Given the description of an element on the screen output the (x, y) to click on. 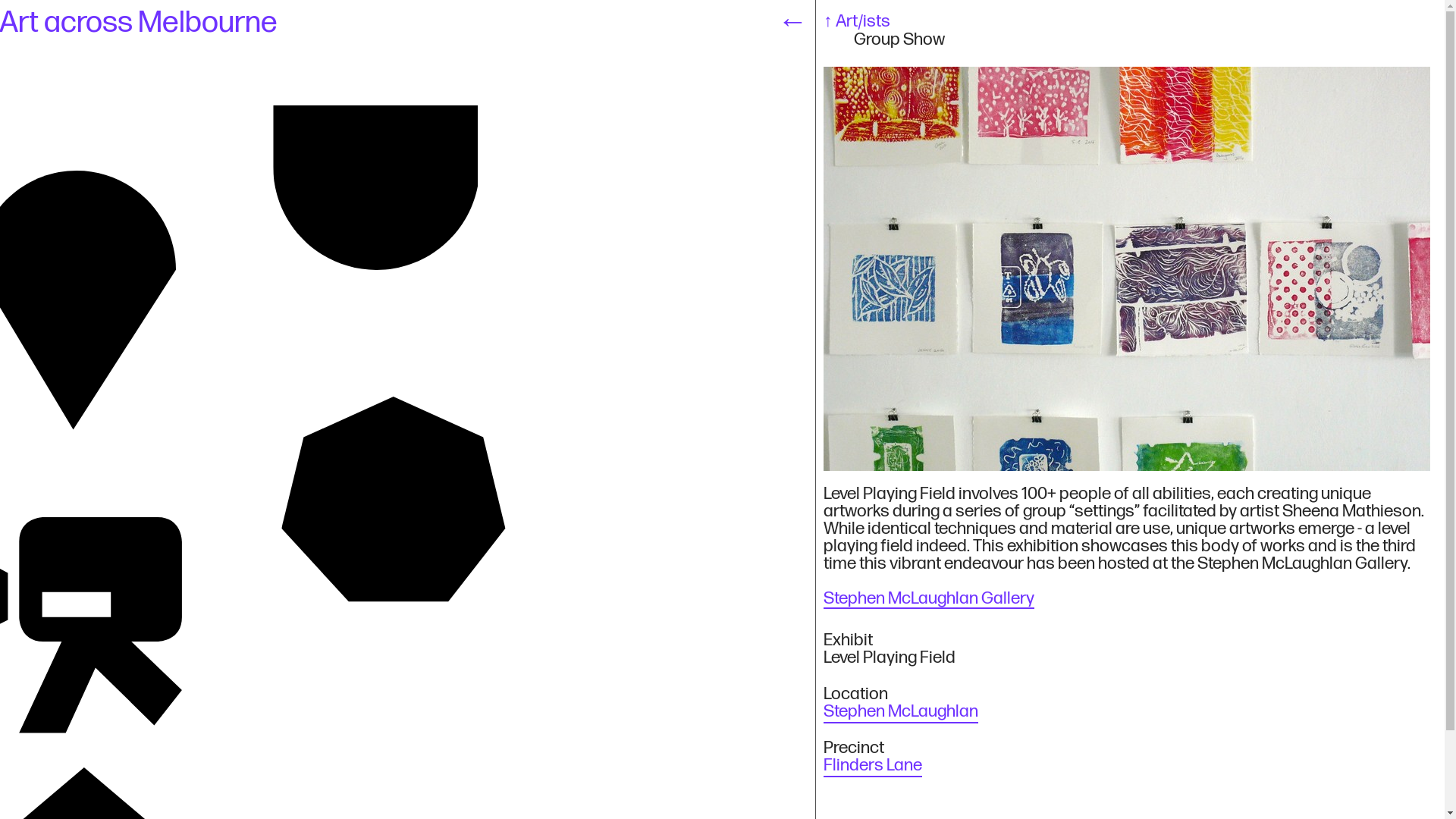
Stephen McLaughlan Gallery Element type: text (928, 598)
Thx Element type: text (375, 188)
Flinders Lane Element type: text (872, 765)
New Element type: text (394, 502)
Stephen McLaughlan Element type: text (900, 711)
